Given the description of an element on the screen output the (x, y) to click on. 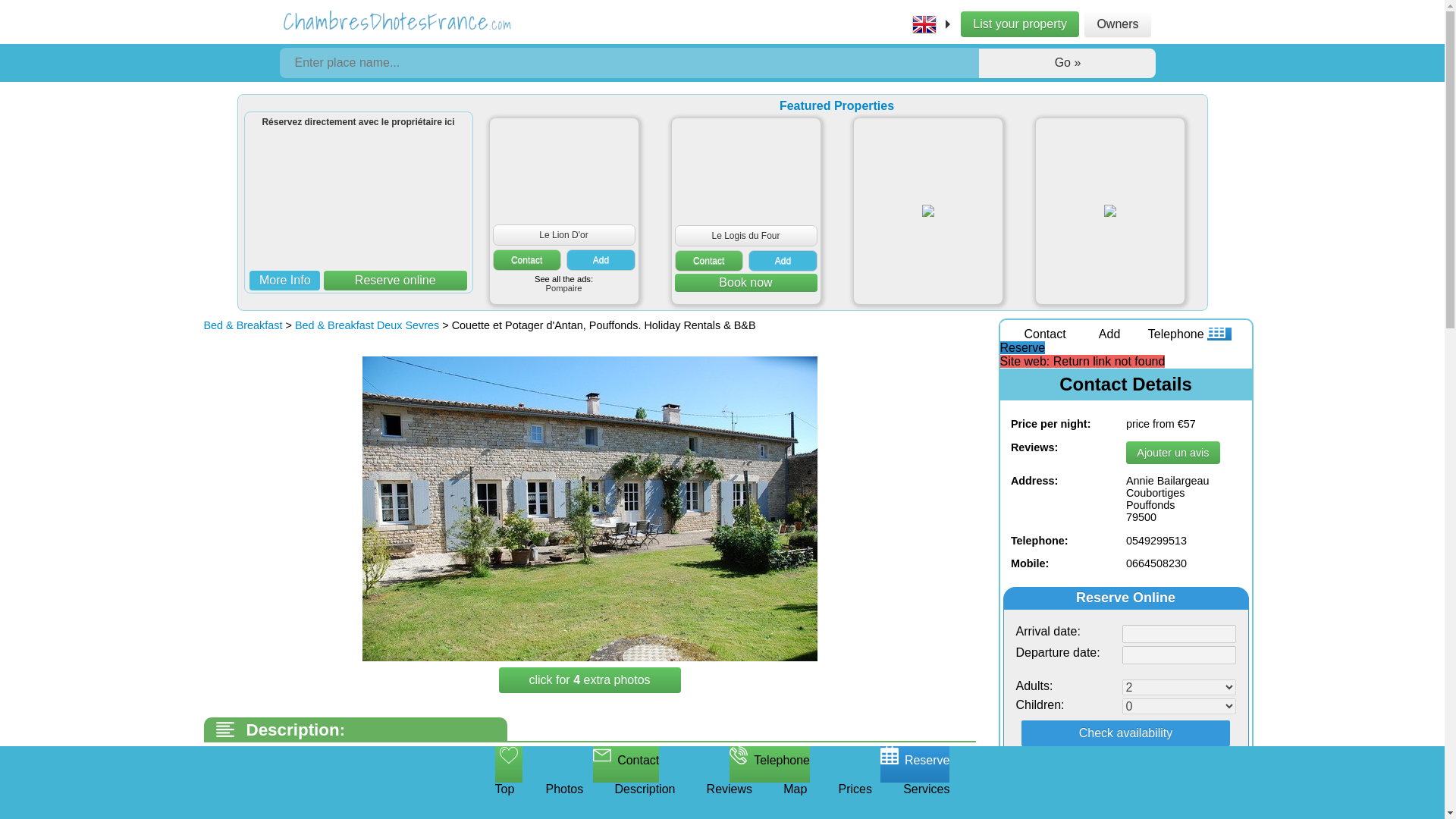
Telephone (1164, 333)
More Info (284, 280)
Services (925, 800)
Pompaire (564, 287)
Contact (708, 260)
Reviews (729, 800)
Contact (526, 260)
Add (782, 260)
Contact (625, 764)
Reserve online (395, 280)
